Given the description of an element on the screen output the (x, y) to click on. 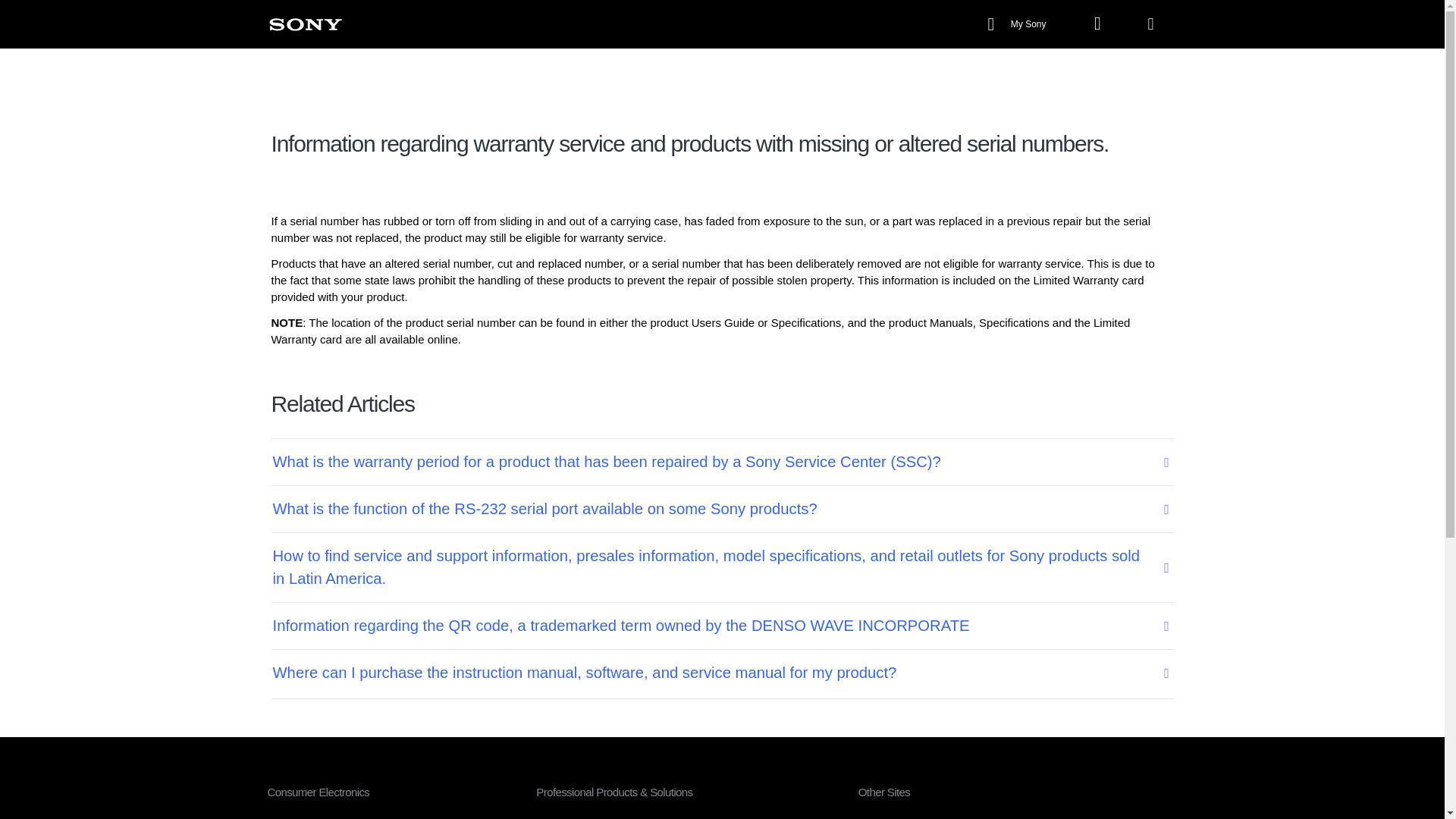
My Sony (1018, 24)
